Given the description of an element on the screen output the (x, y) to click on. 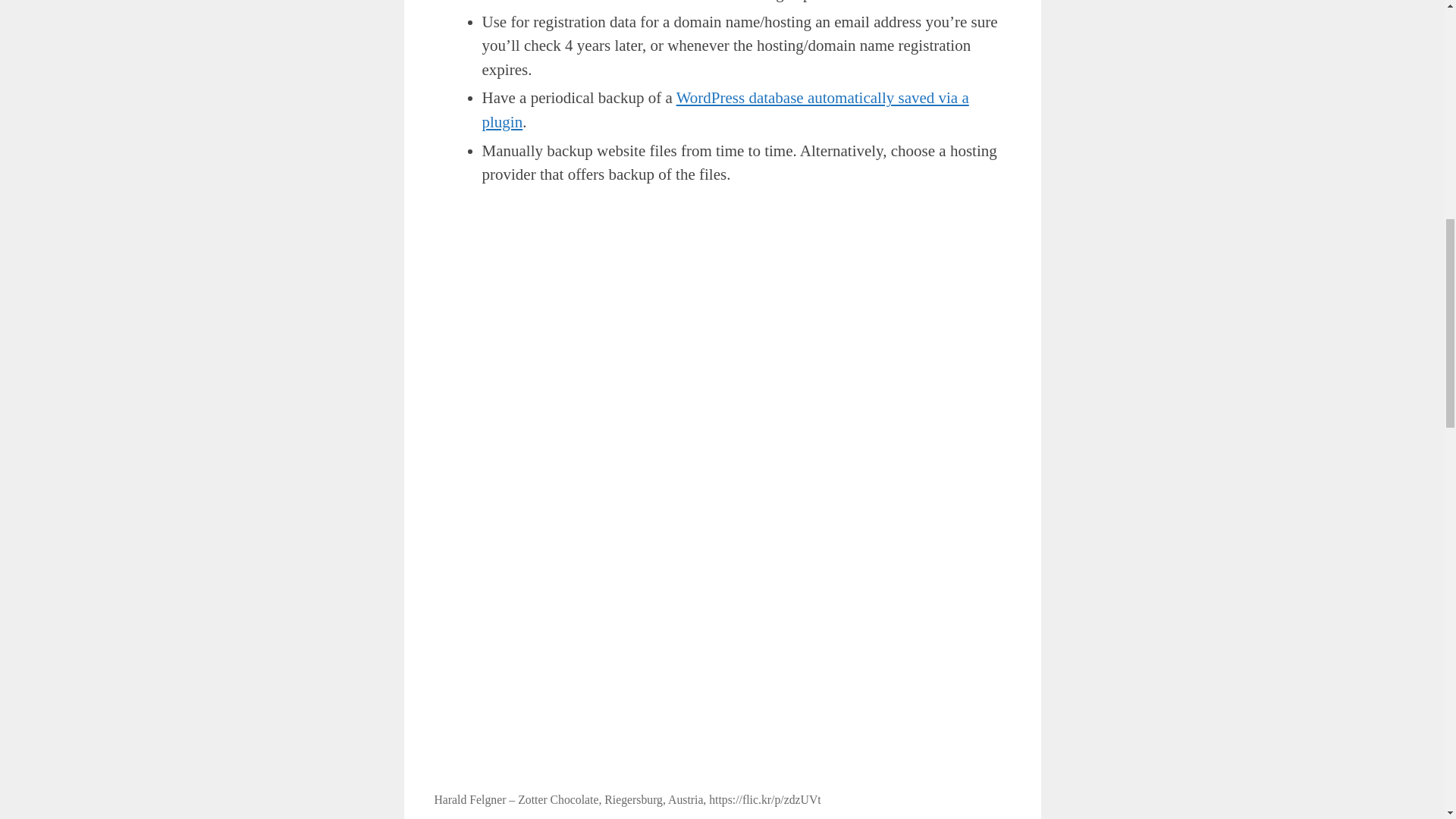
WordPress database automatically saved via a plugin (725, 109)
